Given the description of an element on the screen output the (x, y) to click on. 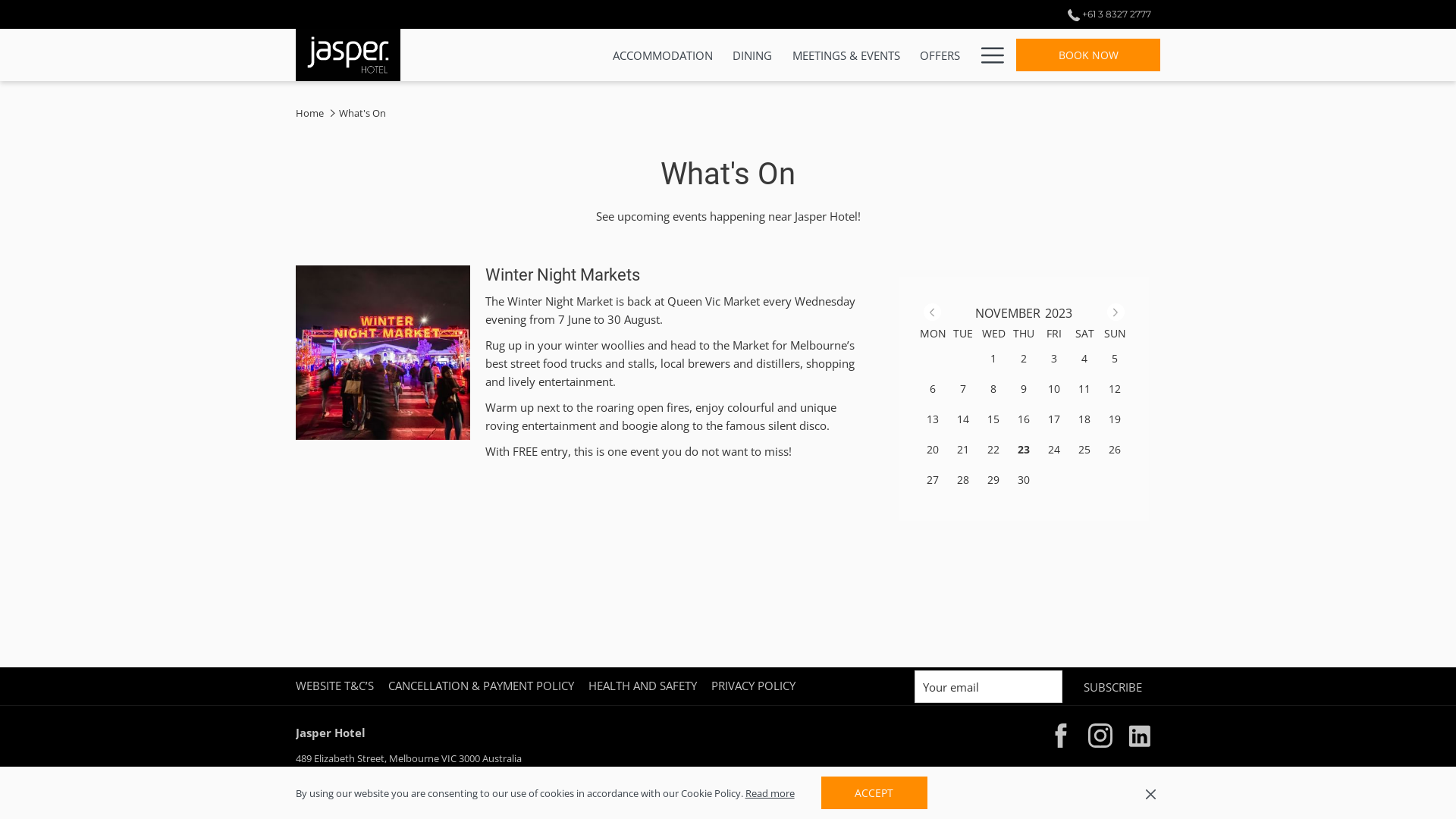
CANCELLATION & PAYMENT POLICY
OPENS IN A NEW TAB Element type: text (482, 685)
21 Element type: text (962, 448)
15 Element type: text (993, 418)
14 Element type: text (962, 418)
8 Element type: text (993, 388)
+61 3 8327 2777 Element type: text (1104, 13)
1 Element type: text (993, 357)
27 Element type: text (932, 479)
20 Element type: text (932, 448)
OFFERS Element type: text (939, 54)
6 Element type: text (932, 388)
7 Element type: text (962, 388)
BOOK NOW Element type: text (1088, 54)
30 Element type: text (1023, 479)
More link
Menu Element type: text (986, 54)
PRIVACY POLICY
OPENS IN A NEW TAB Element type: text (755, 685)
10 Element type: text (1053, 388)
3 Element type: text (1053, 357)
2 Element type: text (1023, 357)
Read more Element type: text (769, 792)
Previous Month Element type: text (932, 311)
23 Element type: text (1023, 448)
13 Element type: text (932, 418)
MEETINGS & EVENTS Element type: text (846, 54)
29 Element type: text (993, 479)
SUBSCRIBE Element type: text (1112, 686)
ACCEPT Element type: text (874, 792)
24 Element type: text (1053, 448)
stay@jasperhotel.com.au Element type: text (450, 776)
DINING Element type: text (751, 54)
+61 3 8327 2777 Element type: text (348, 776)
18 Element type: text (1084, 418)
5 Element type: text (1114, 357)
12 Element type: text (1114, 388)
What's On Element type: text (361, 112)
9 Element type: text (1023, 388)
19 Element type: text (1114, 418)
17 Element type: text (1053, 418)
11 Element type: text (1084, 388)
ACCOMMODATION Element type: text (662, 54)
28 Element type: text (962, 479)
22 Element type: text (993, 448)
16 Element type: text (1023, 418)
4 Element type: text (1084, 357)
26 Element type: text (1114, 448)
25 Element type: text (1084, 448)
Back to the homepage Element type: hover (347, 54)
Next Month Element type: text (1115, 311)
Home Element type: text (309, 112)
HEALTH AND SAFETY
OPENS IN A NEW TAB Element type: text (644, 685)
